Given the description of an element on the screen output the (x, y) to click on. 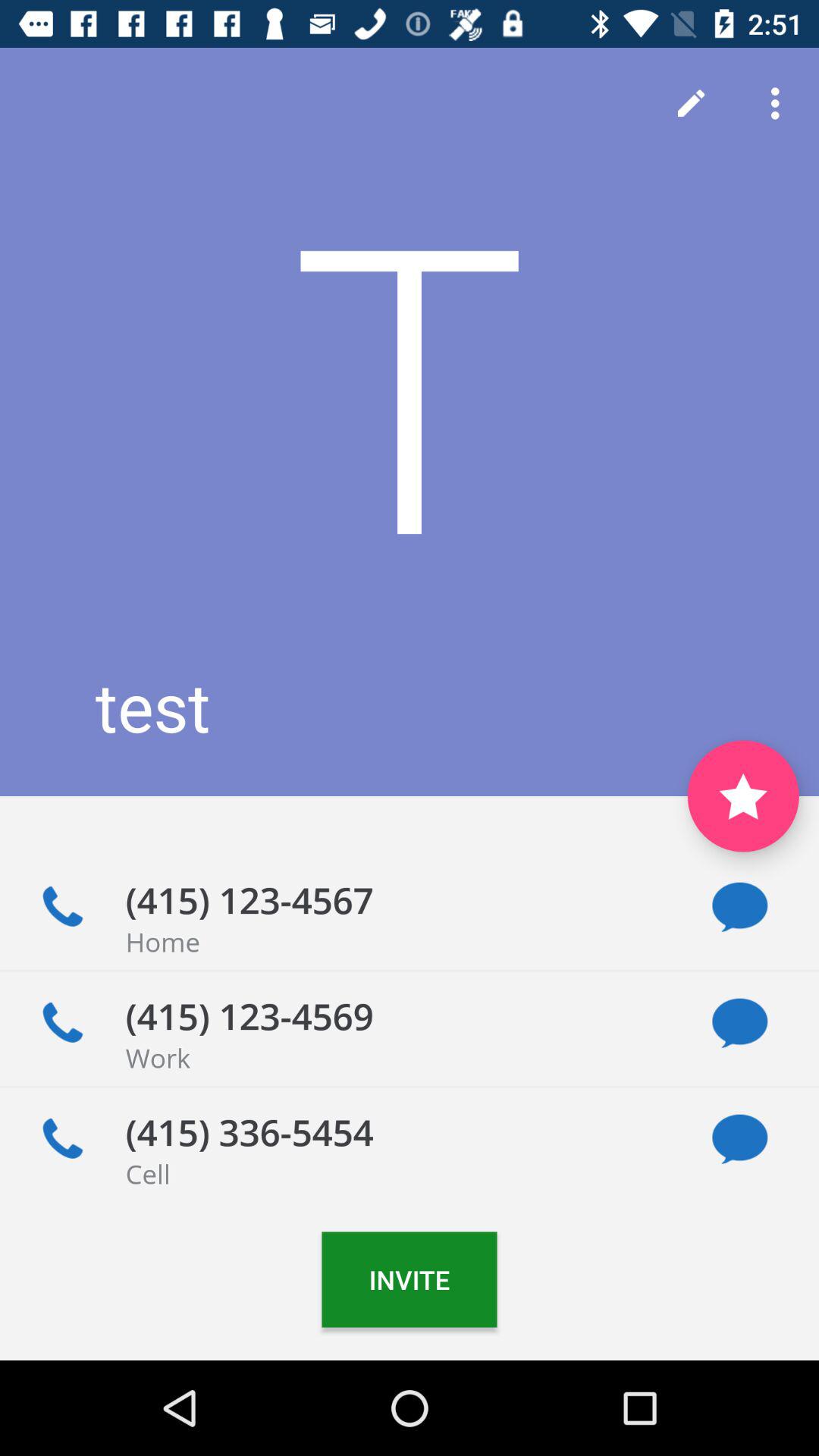
call this number (62, 1023)
